Given the description of an element on the screen output the (x, y) to click on. 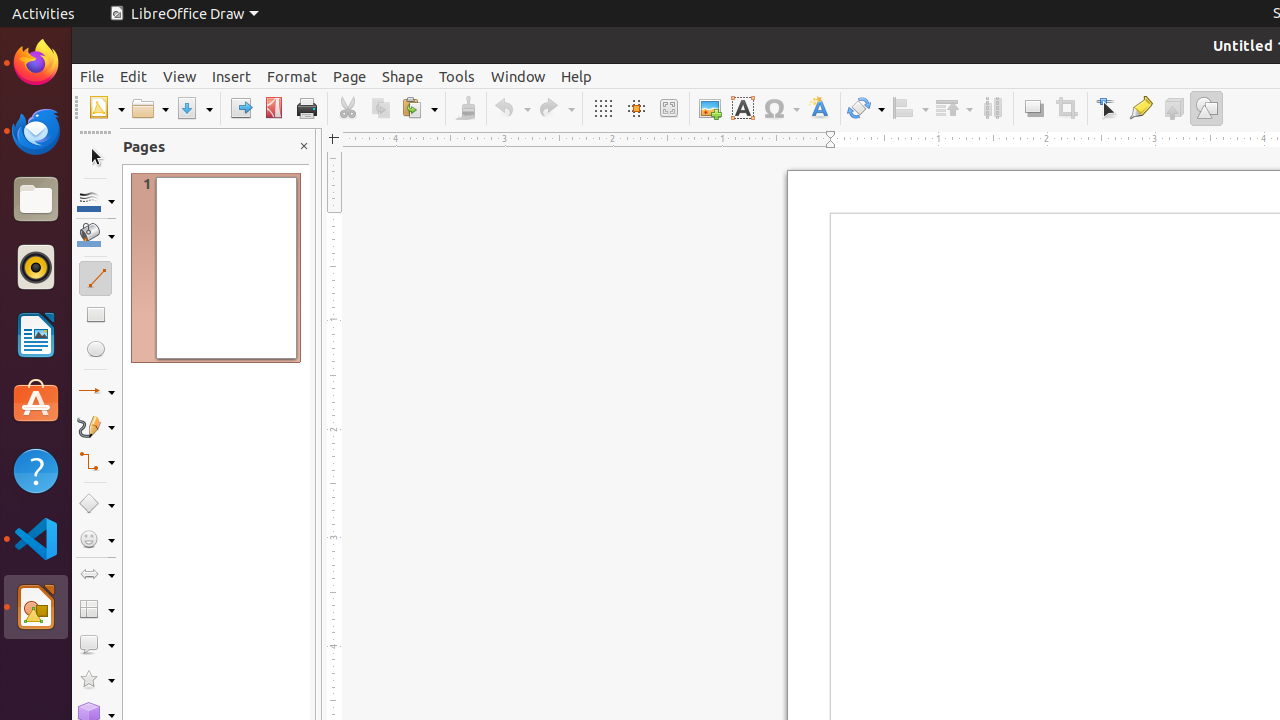
Grid Element type: toggle-button (602, 108)
Save Element type: push-button (194, 108)
Zoom & Pan Element type: push-button (668, 108)
Ubuntu Software Element type: push-button (36, 402)
